Given the description of an element on the screen output the (x, y) to click on. 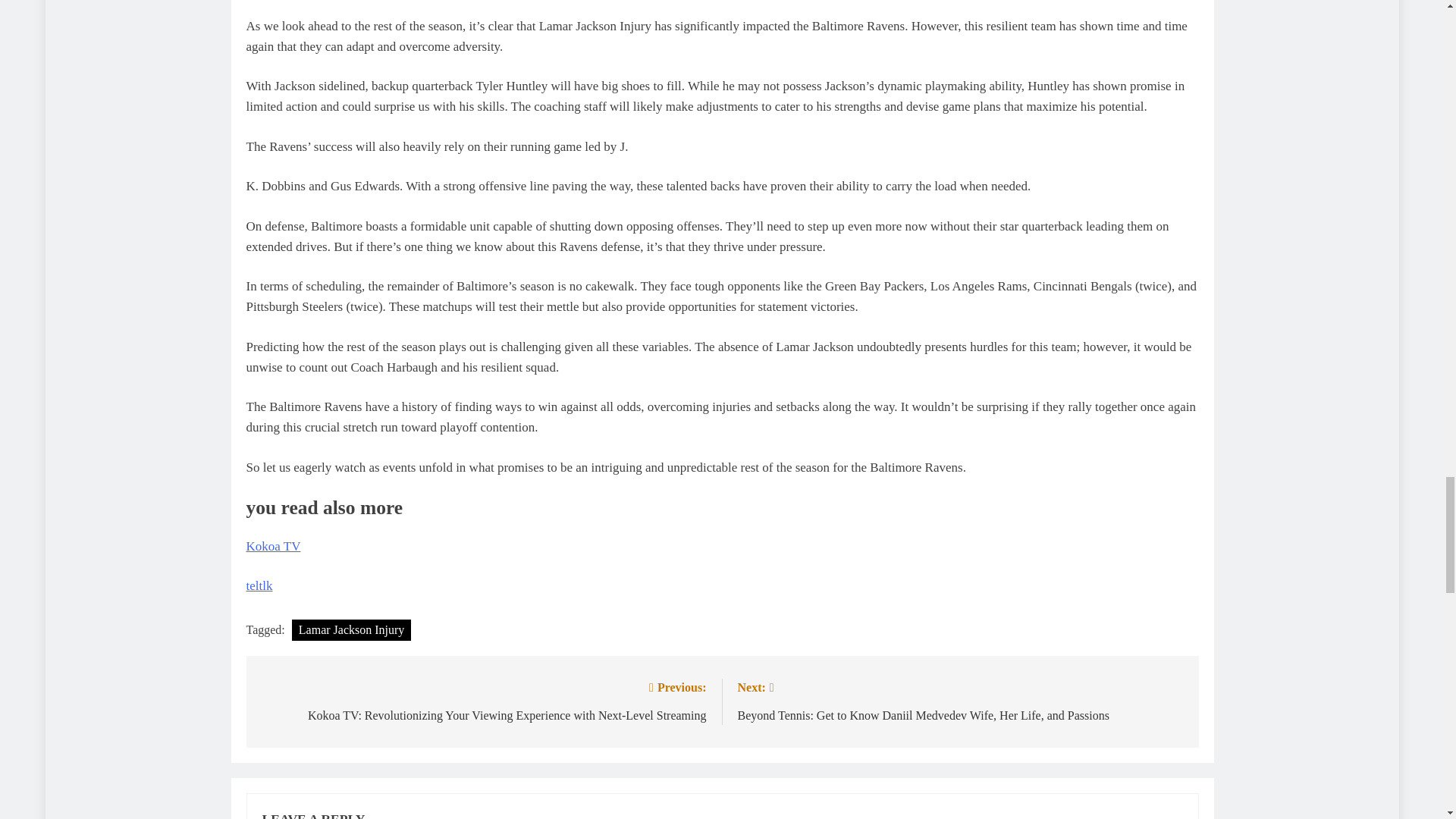
Kokoa TV (272, 545)
teltlk (259, 585)
Lamar Jackson Injury (352, 629)
